Given the description of an element on the screen output the (x, y) to click on. 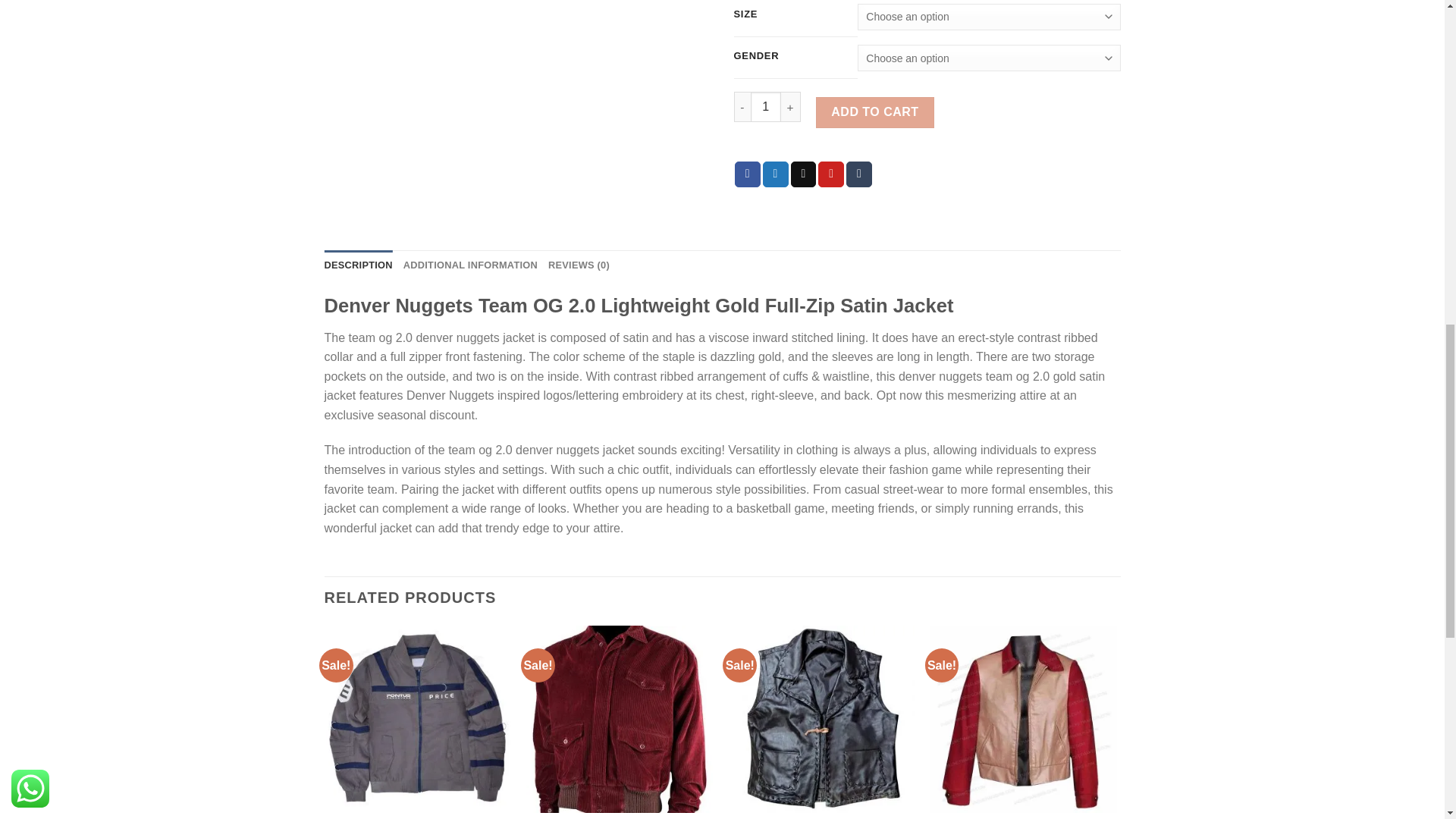
Qty (765, 106)
1 (765, 106)
